Given the description of an element on the screen output the (x, y) to click on. 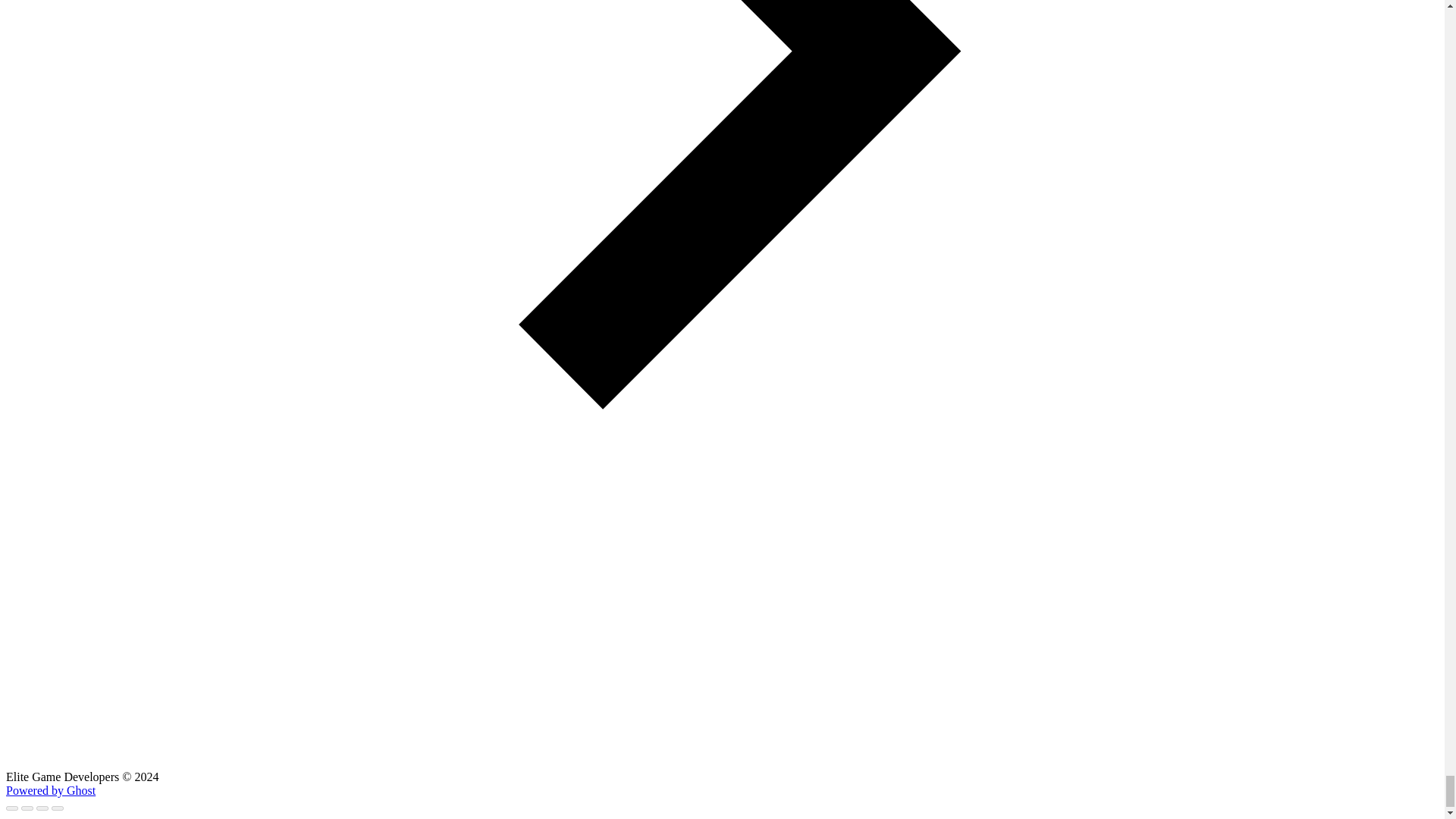
Powered by Ghost (50, 789)
Toggle fullscreen (42, 807)
Share (27, 807)
